Given the description of an element on the screen output the (x, y) to click on. 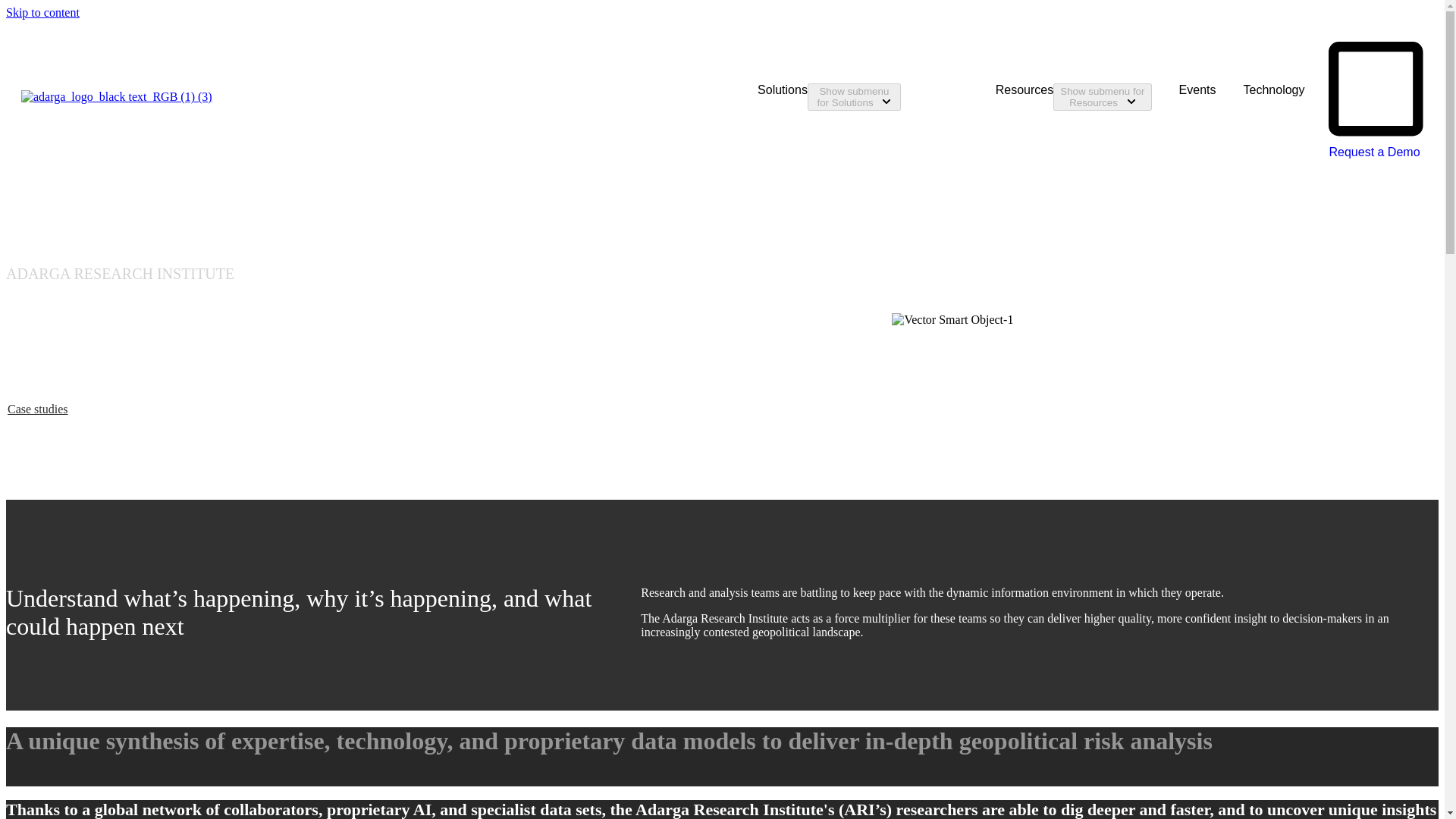
Solutions (750, 96)
Case studies (37, 408)
Skip to content (42, 11)
Events (1197, 90)
Show submenu for Solutions (854, 96)
Vector Smart Object-1 (952, 319)
Resources (990, 96)
Technology (1273, 90)
Request a Demo (1375, 144)
Contact us (33, 395)
Show submenu for Resources (1101, 96)
